Given the description of an element on the screen output the (x, y) to click on. 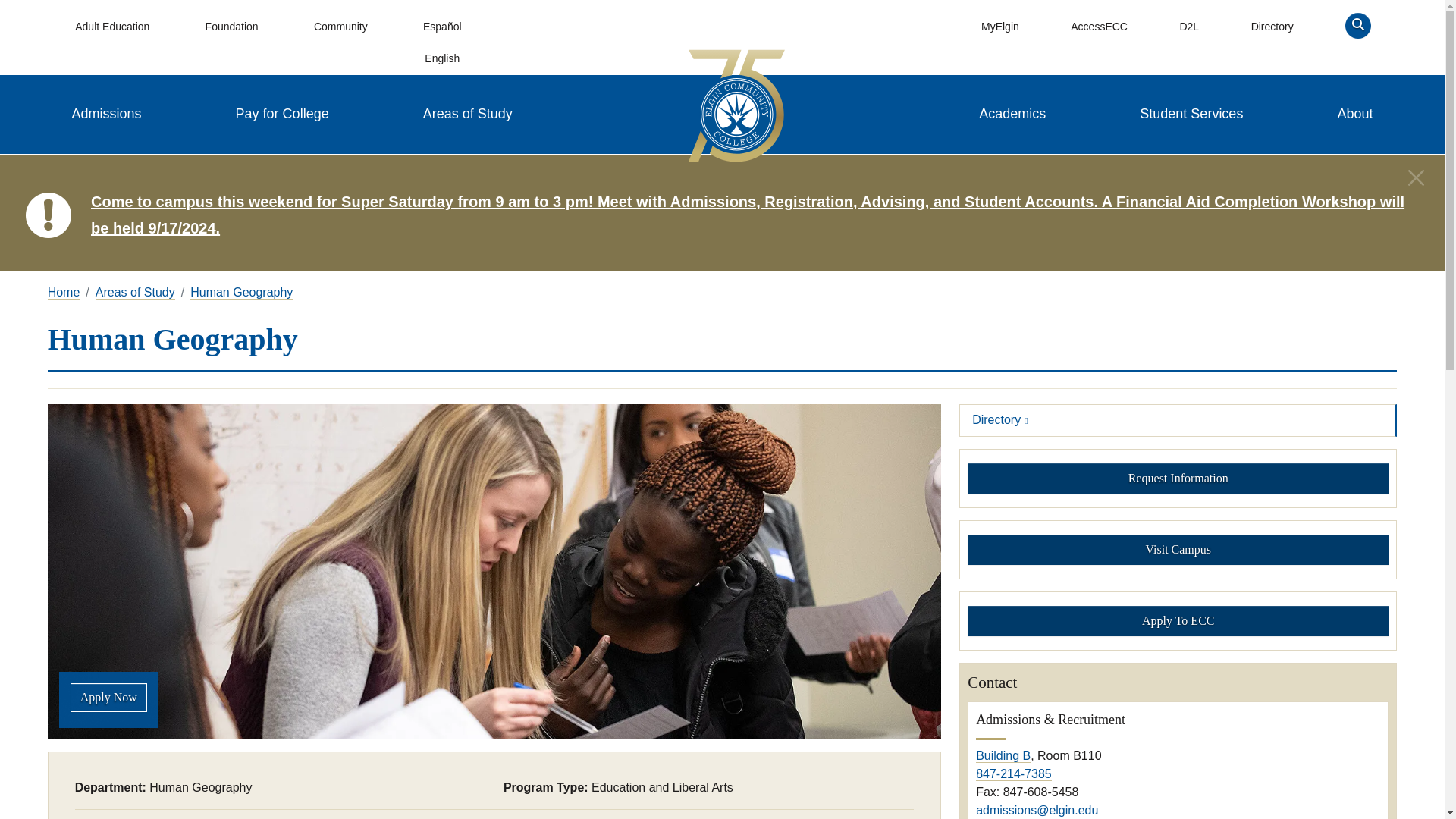
Pay for College (282, 114)
Request Information (1177, 478)
Home (64, 292)
Academics (1012, 114)
Directory (1271, 27)
D2L (1188, 27)
MyElgin (1000, 27)
Call 847-214-7385 (1013, 774)
Apply Now (108, 697)
AccessECC (1099, 27)
